Given the description of an element on the screen output the (x, y) to click on. 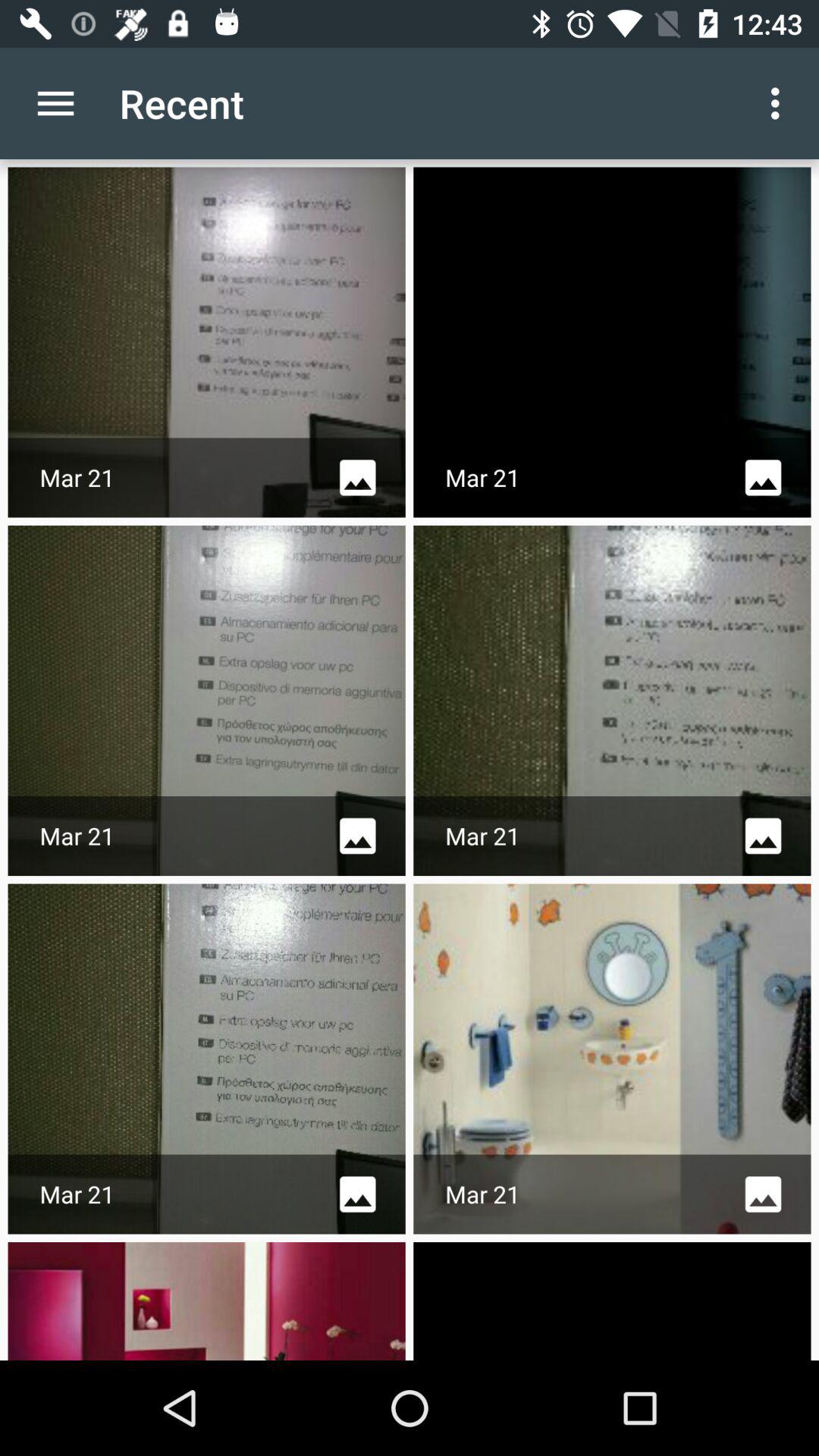
turn off item next to recent item (779, 103)
